Given the description of an element on the screen output the (x, y) to click on. 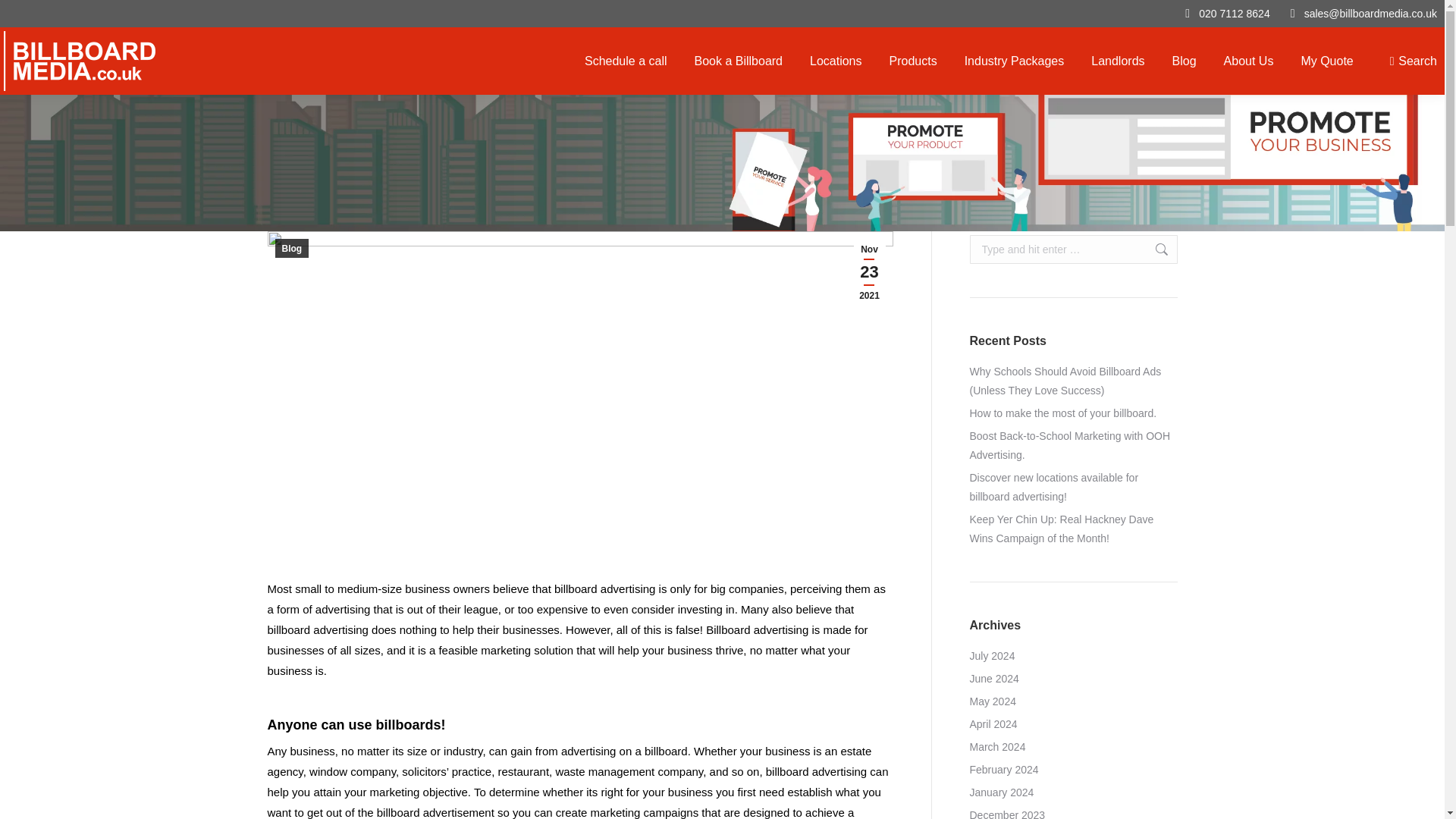
Go! (1153, 249)
Industry Packages (1013, 60)
Blog (1184, 60)
Locations (835, 60)
020 7112 8624 (1233, 13)
Products (912, 60)
Book a Billboard (738, 60)
Search (1413, 60)
About Us (1248, 60)
Schedule a call (624, 60)
Go! (24, 16)
11:51 AM (869, 272)
My Quote (1326, 60)
Landlords (1117, 60)
Go! (1153, 249)
